Given the description of an element on the screen output the (x, y) to click on. 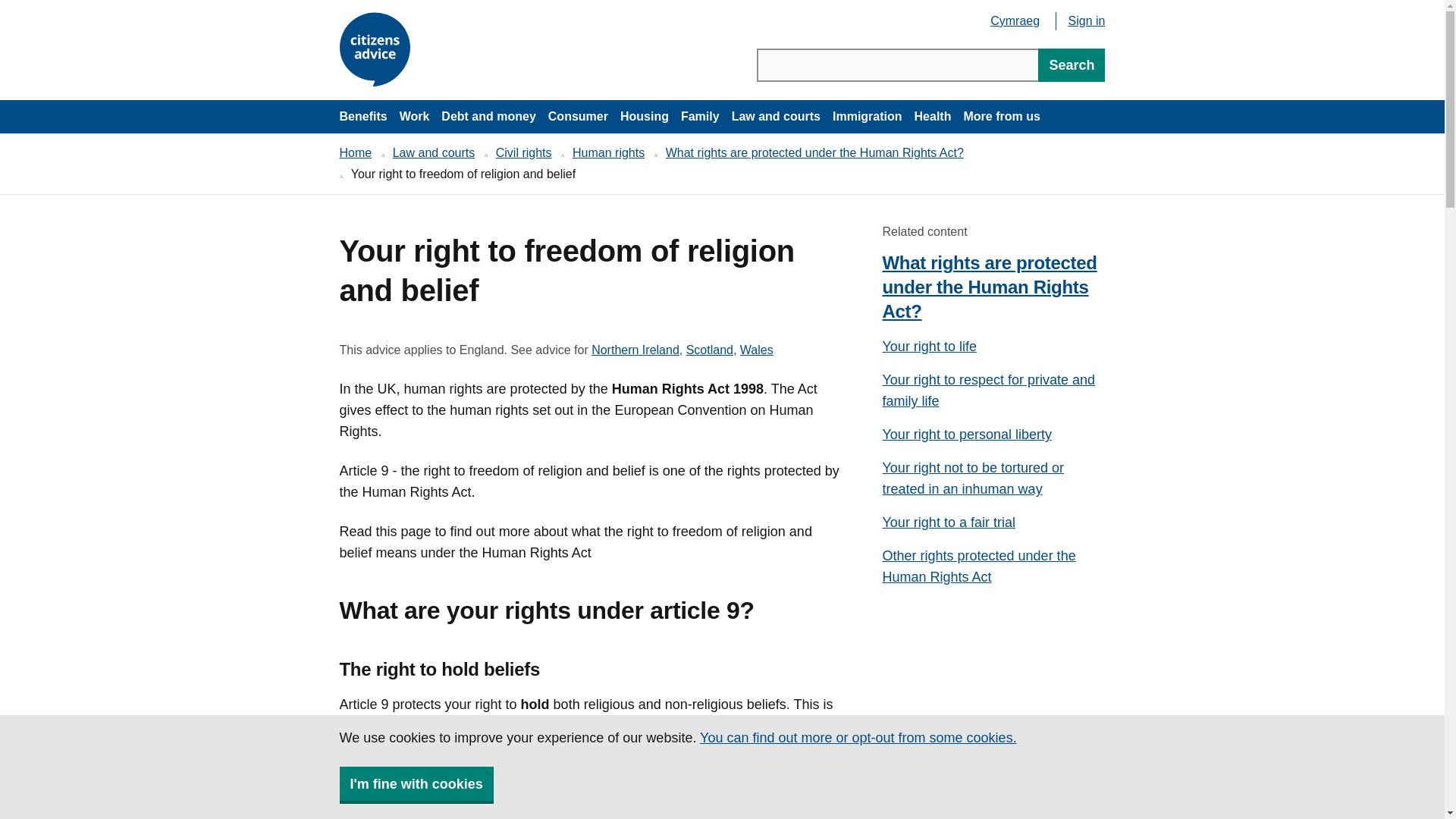
Home (355, 152)
Cymraeg (1014, 21)
Immigration (867, 116)
Housing (644, 116)
More from us (1000, 116)
Search (1071, 64)
Sign in (1086, 20)
Submit search query (1071, 64)
Health (933, 116)
Work (414, 116)
What rights are protected under the Human Rights Act? (814, 152)
Citizens Advice Homepage (376, 49)
You can find out more or opt-out from some cookies. (858, 737)
Consumer (577, 116)
